Given the description of an element on the screen output the (x, y) to click on. 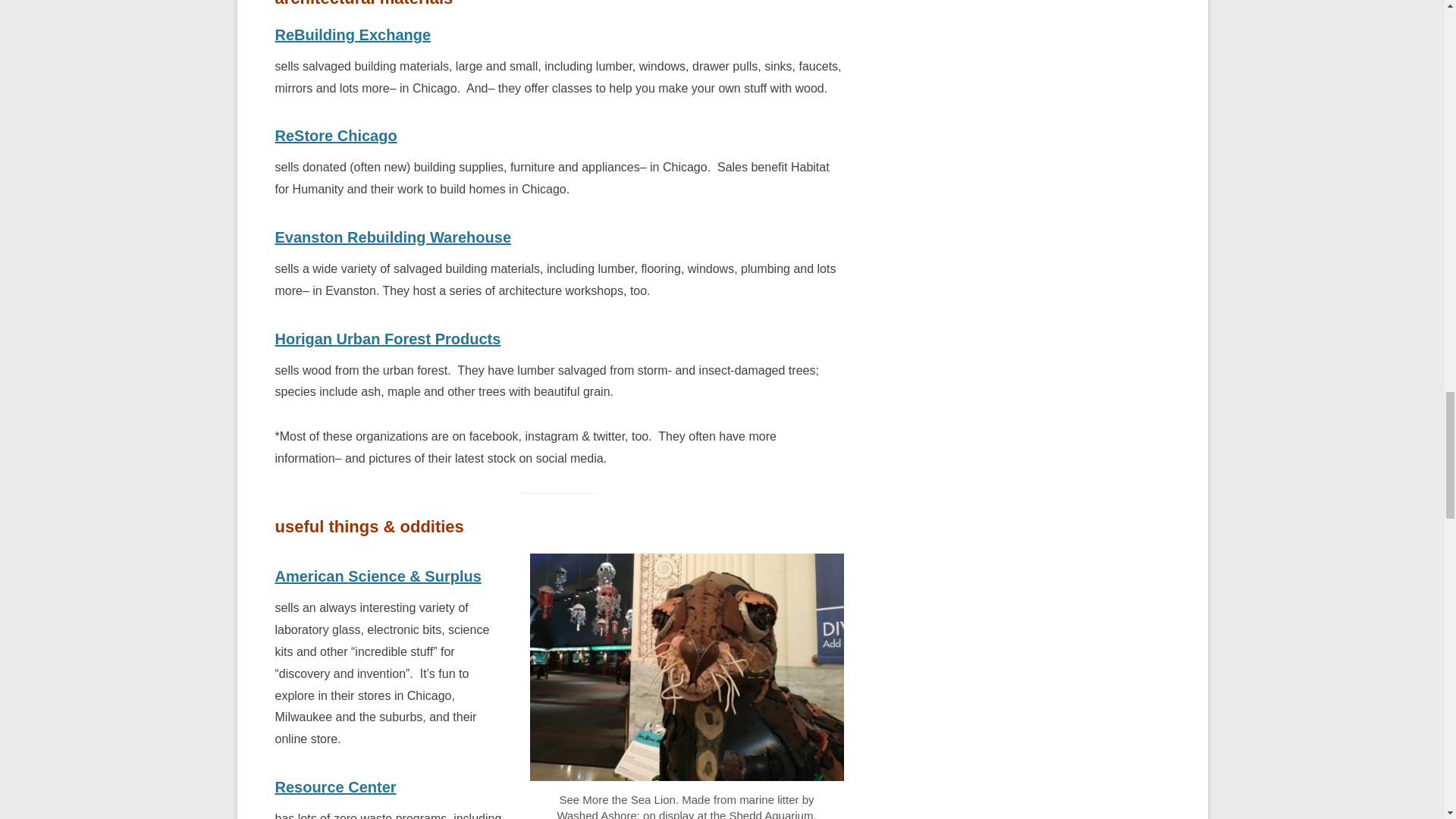
ReStore Chicago (335, 135)
Resource Center (335, 786)
ReBuilding Exchange (352, 34)
Horigan Urban Forest Products (387, 338)
Evanston Rebuilding Warehouse (393, 237)
